Given the description of an element on the screen output the (x, y) to click on. 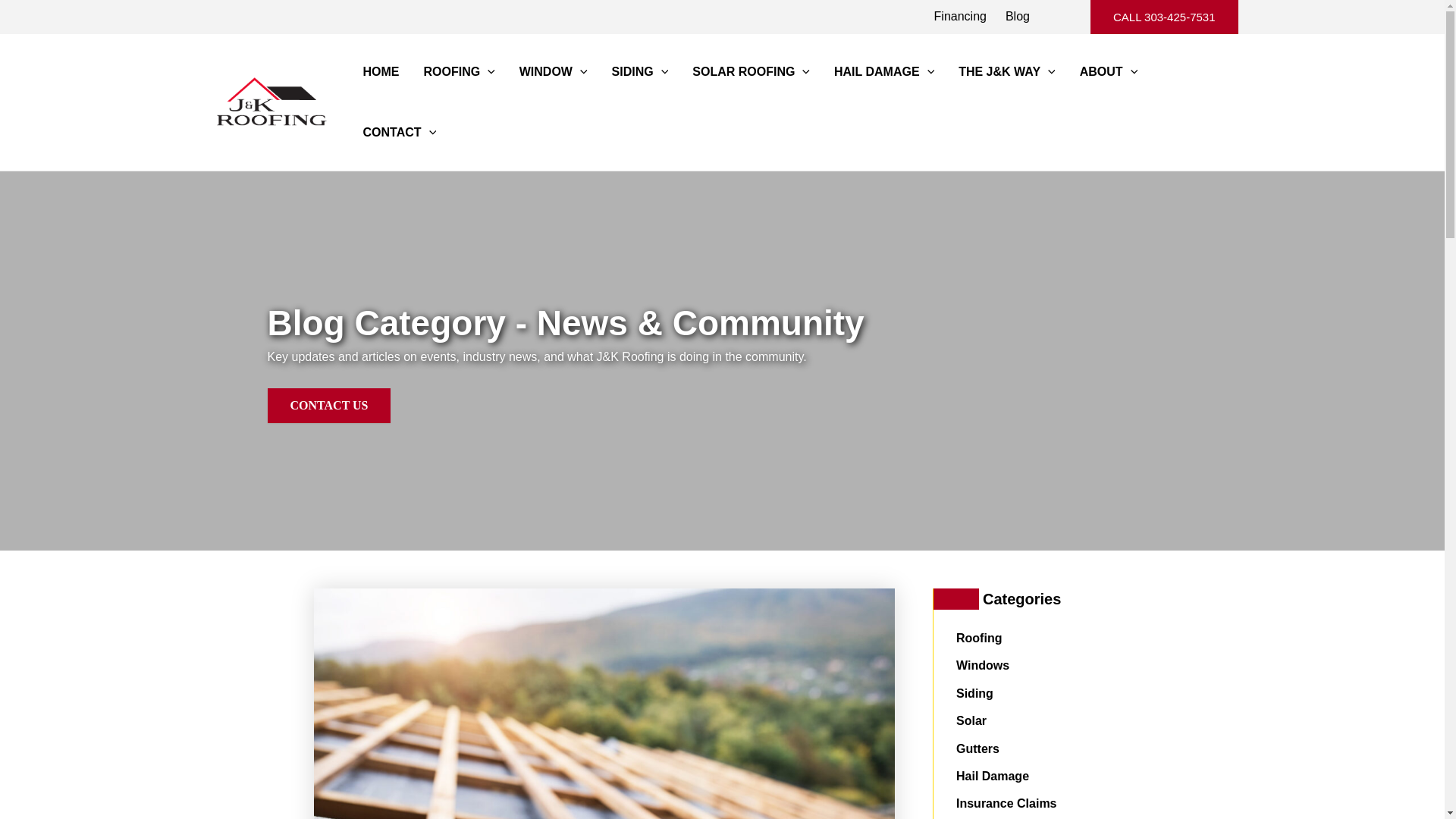
ABOUT (1108, 71)
ROOFING (458, 71)
HOME (380, 71)
CONTACT (399, 132)
SIDING (640, 71)
CALL 303-425-7531 (1164, 17)
HAIL DAMAGE (884, 71)
Financing (960, 16)
WINDOW (552, 71)
Blog (1017, 16)
